Given the description of an element on the screen output the (x, y) to click on. 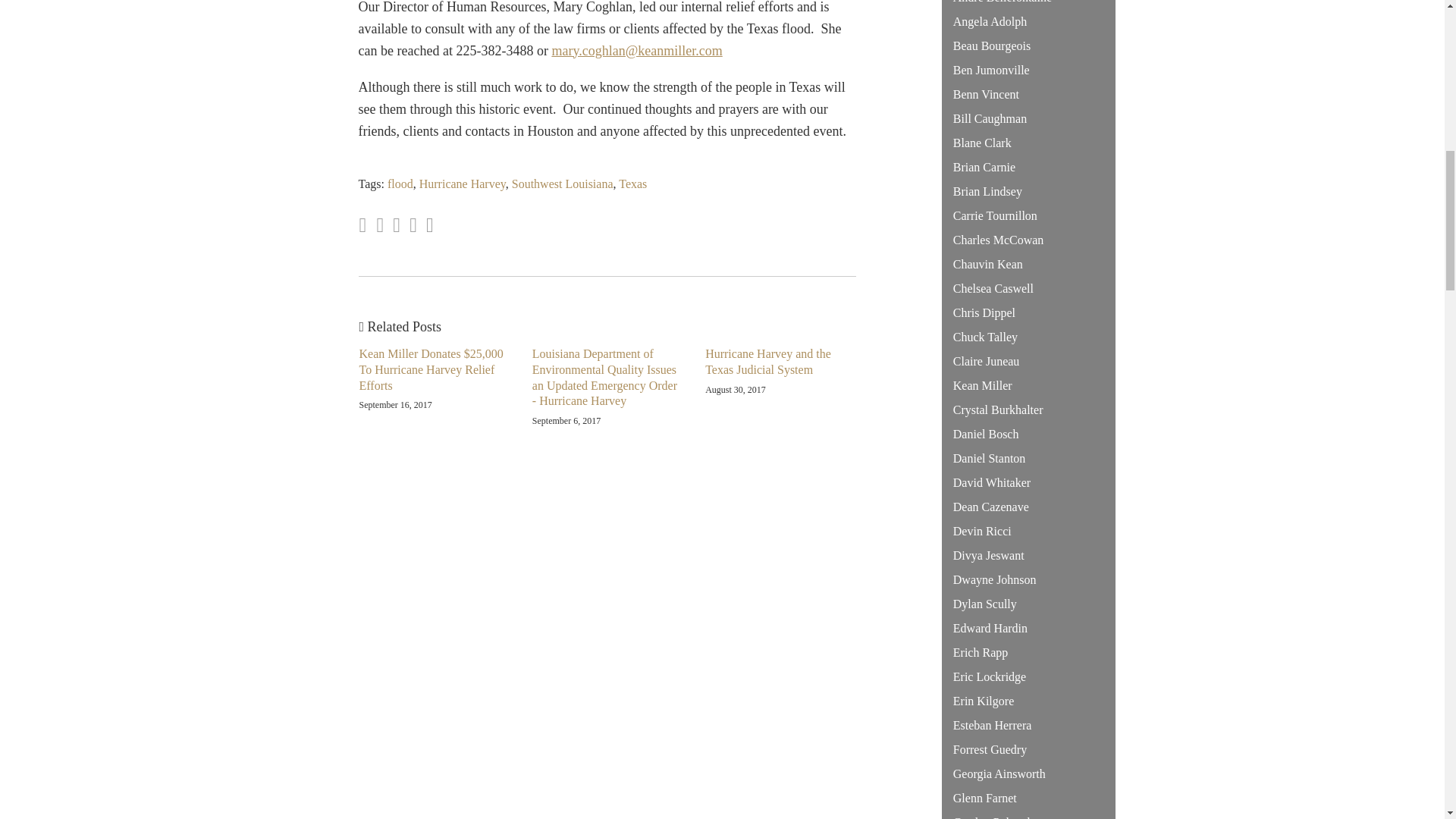
Hurricane Harvey (462, 183)
Texas (632, 183)
flood (400, 183)
Southwest Louisiana (562, 183)
Beau Bourgeois (991, 45)
Andre Bellefontaine (1002, 2)
Angela Adolph (989, 21)
Ben Jumonville (991, 69)
Hurricane Harvey and the Texas Judicial System (780, 362)
